Given the description of an element on the screen output the (x, y) to click on. 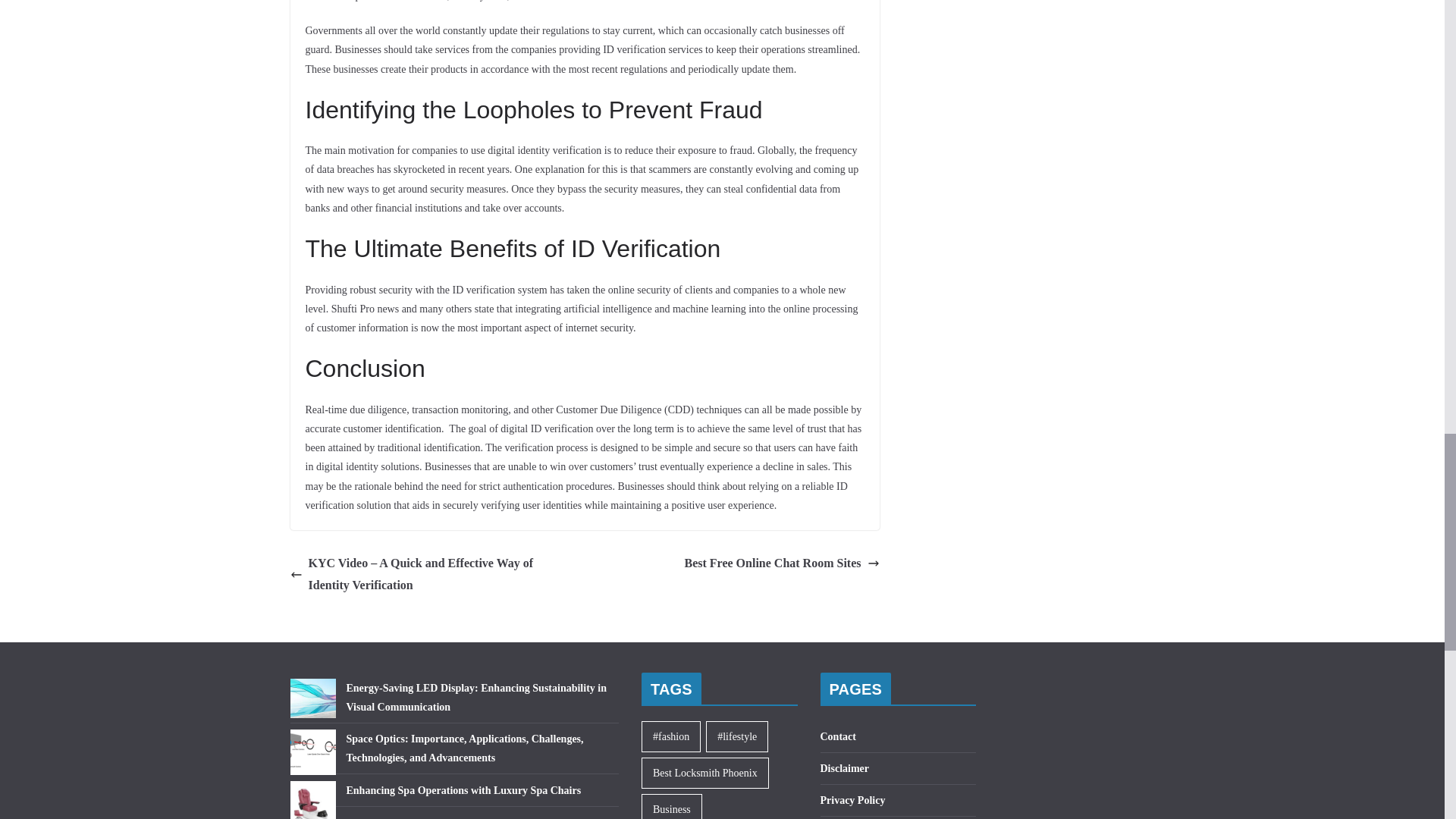
Best Free Online Chat Room Sites (781, 563)
